Given the description of an element on the screen output the (x, y) to click on. 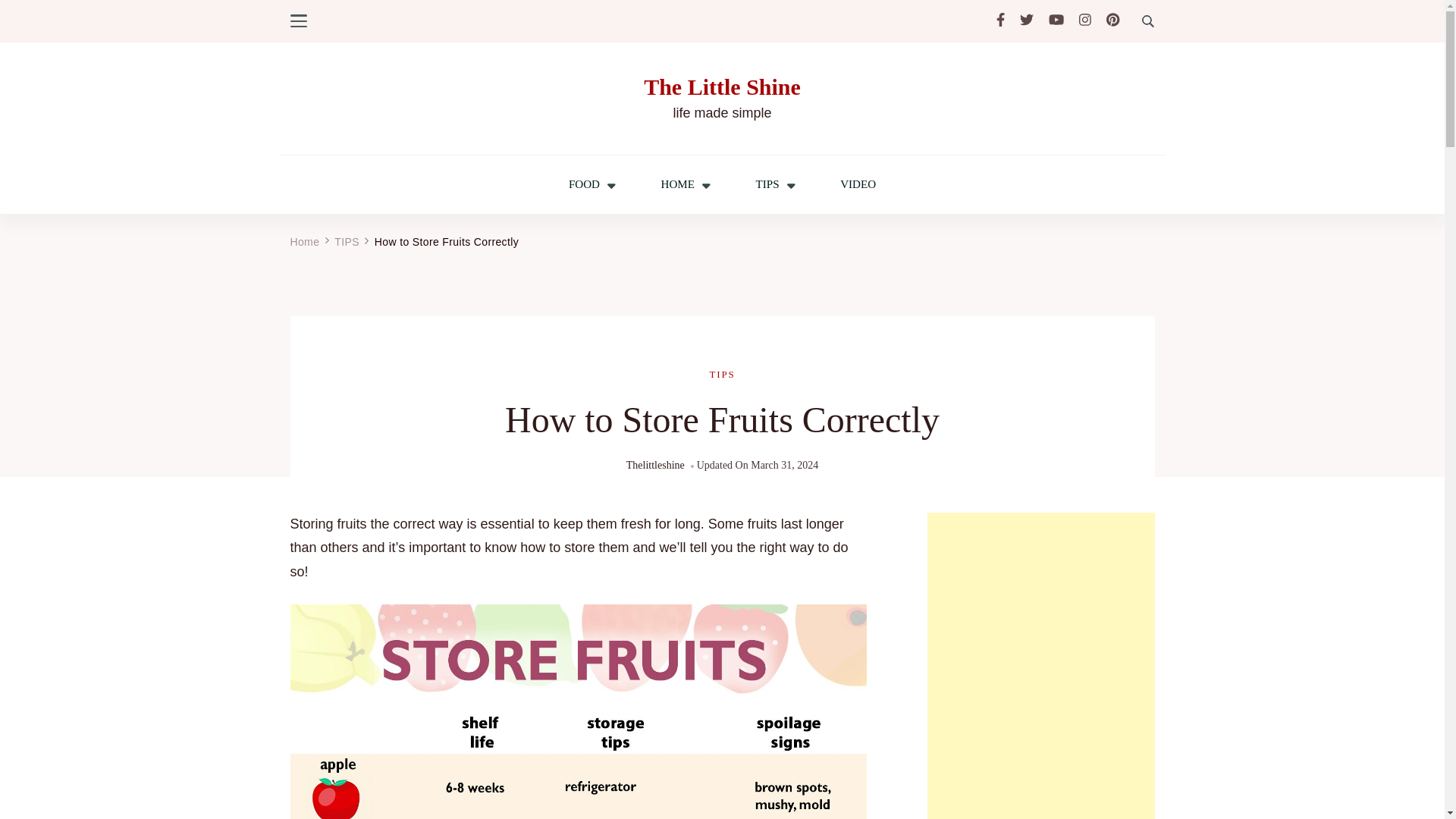
TIPS (766, 184)
FOOD (584, 184)
HOME (677, 184)
The Little Shine (721, 85)
VIDEO (858, 184)
